Given the description of an element on the screen output the (x, y) to click on. 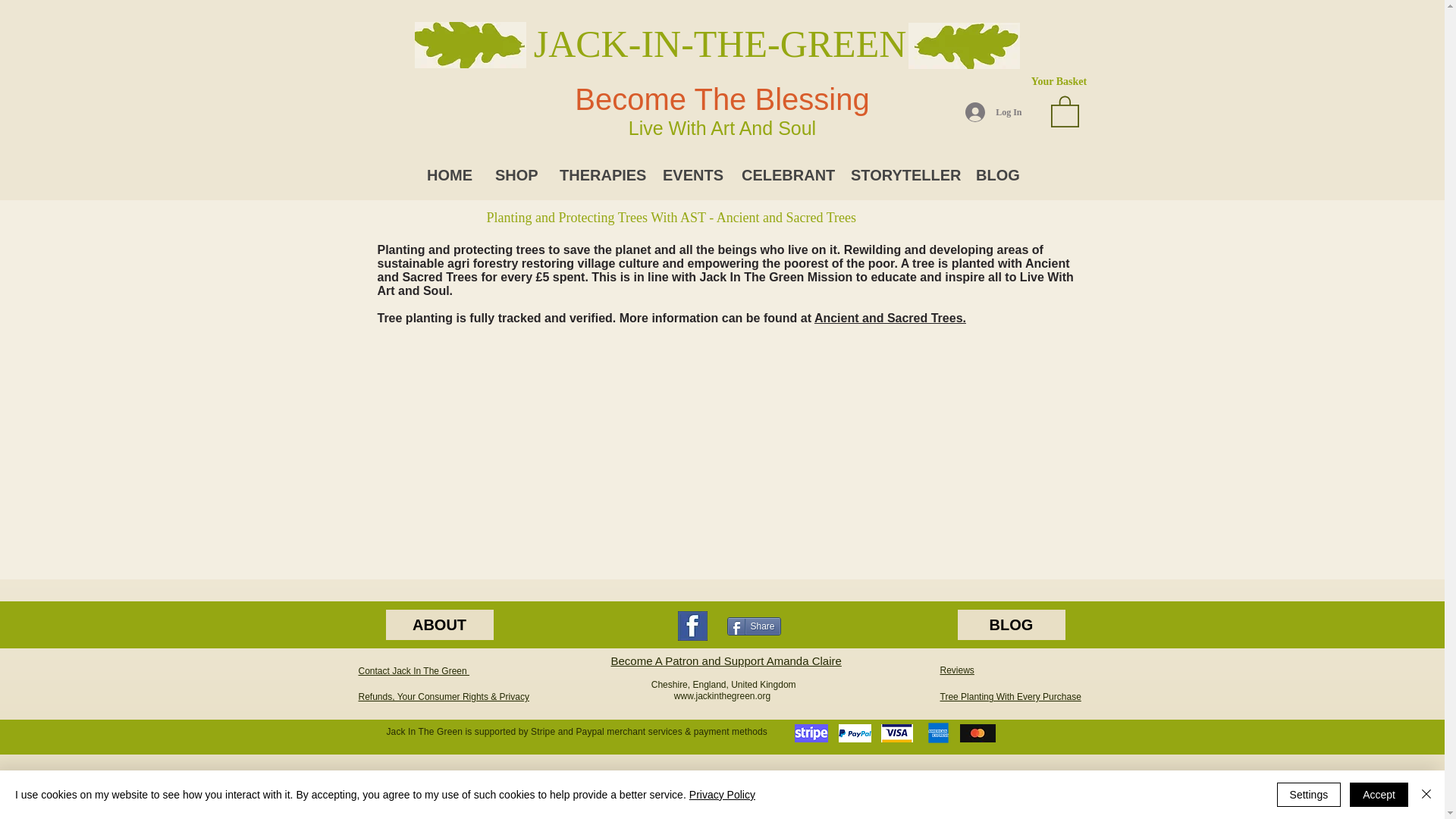
HOME (448, 175)
SHOP (515, 175)
Log In (993, 111)
Jack In The Green ethical online shop is on facebook (692, 625)
Share (753, 626)
